Given the description of an element on the screen output the (x, y) to click on. 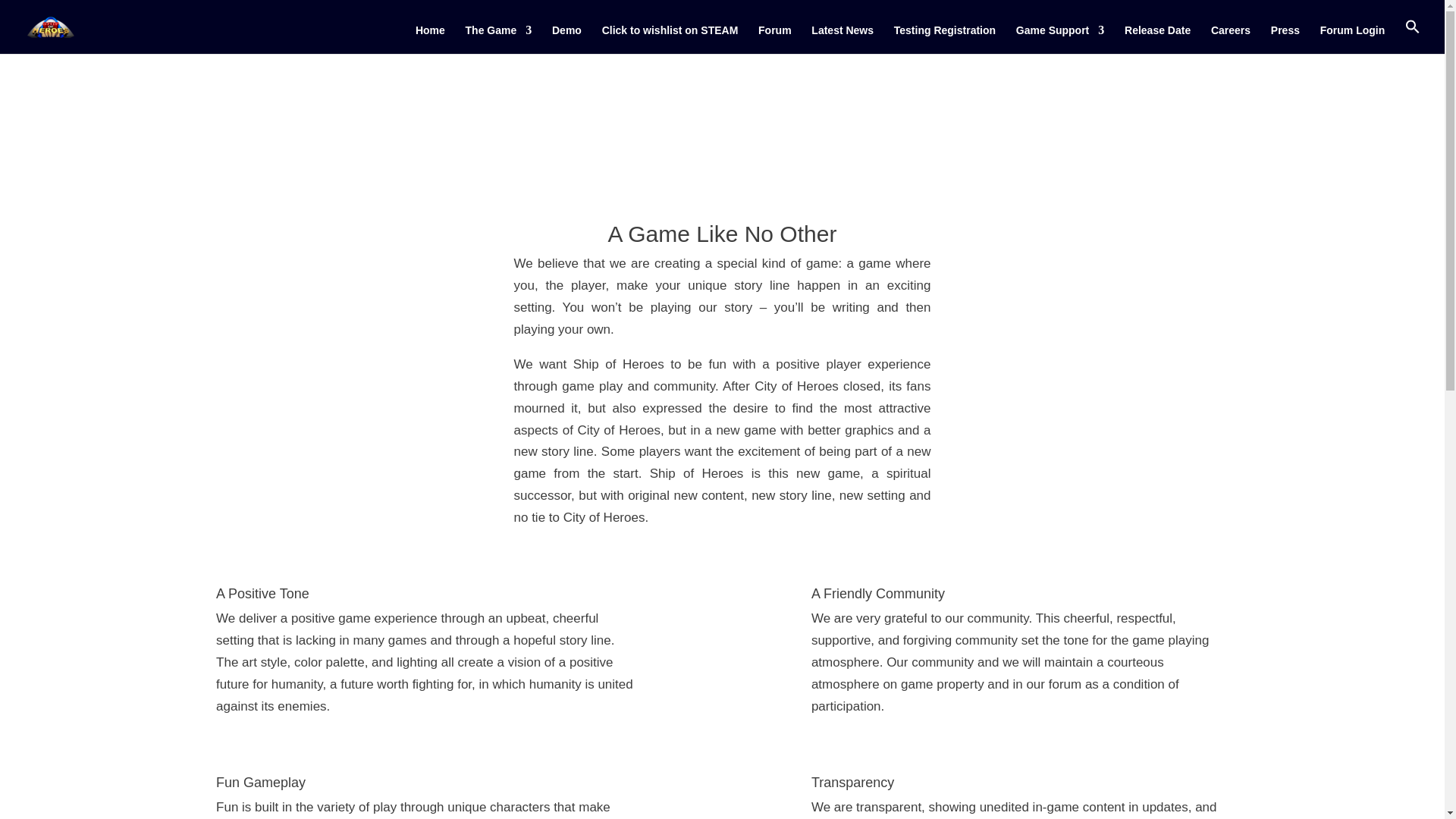
Home (429, 39)
Click to wishlist on STEAM (670, 39)
Game Support (1059, 39)
Forum (775, 39)
Latest News (841, 39)
The Game (498, 39)
Careers (1230, 39)
Forum Login (1353, 39)
Press (1285, 39)
Demo (565, 39)
